Given the description of an element on the screen output the (x, y) to click on. 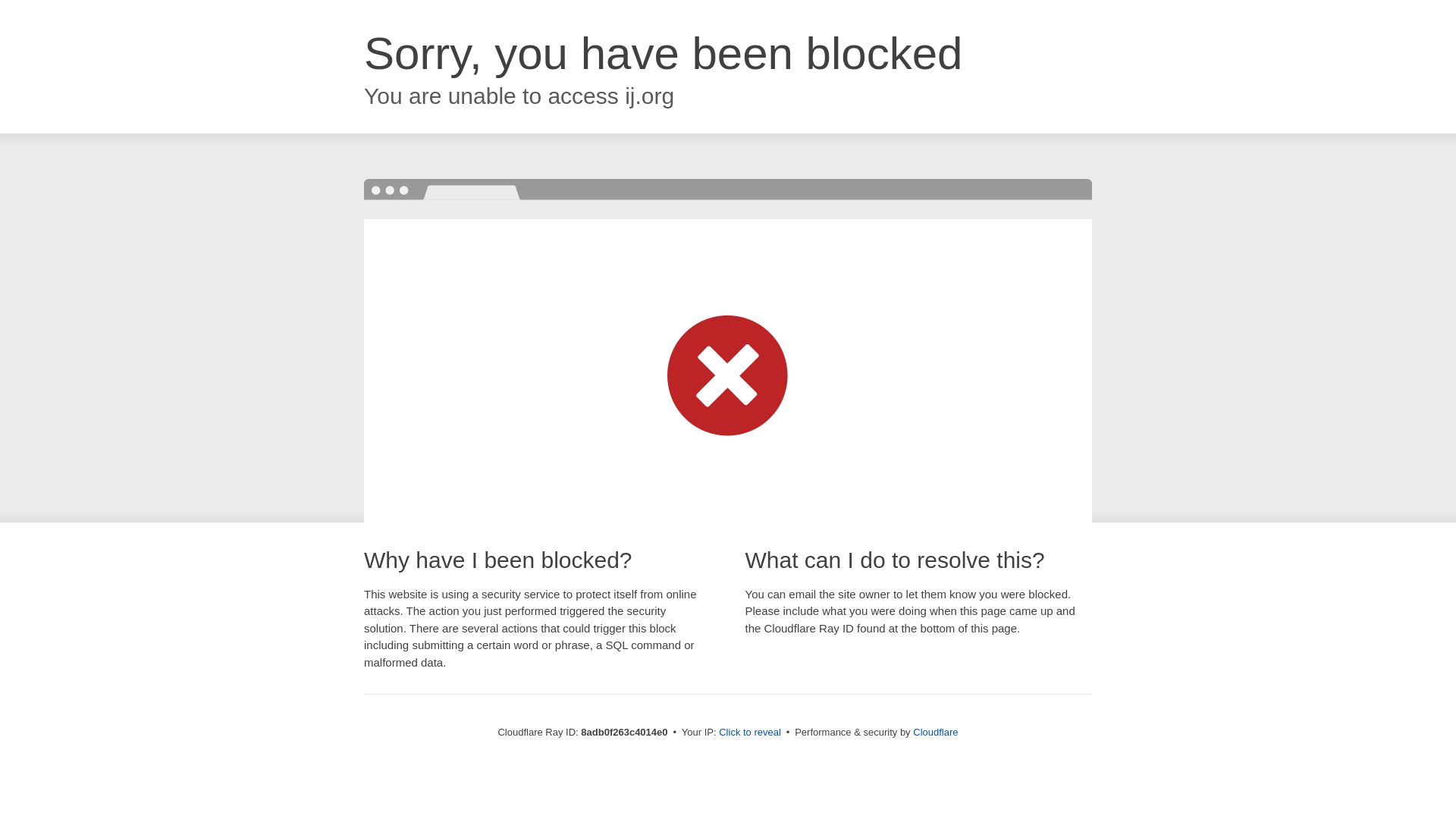
Click to reveal (749, 732)
Cloudflare (935, 731)
